Given the description of an element on the screen output the (x, y) to click on. 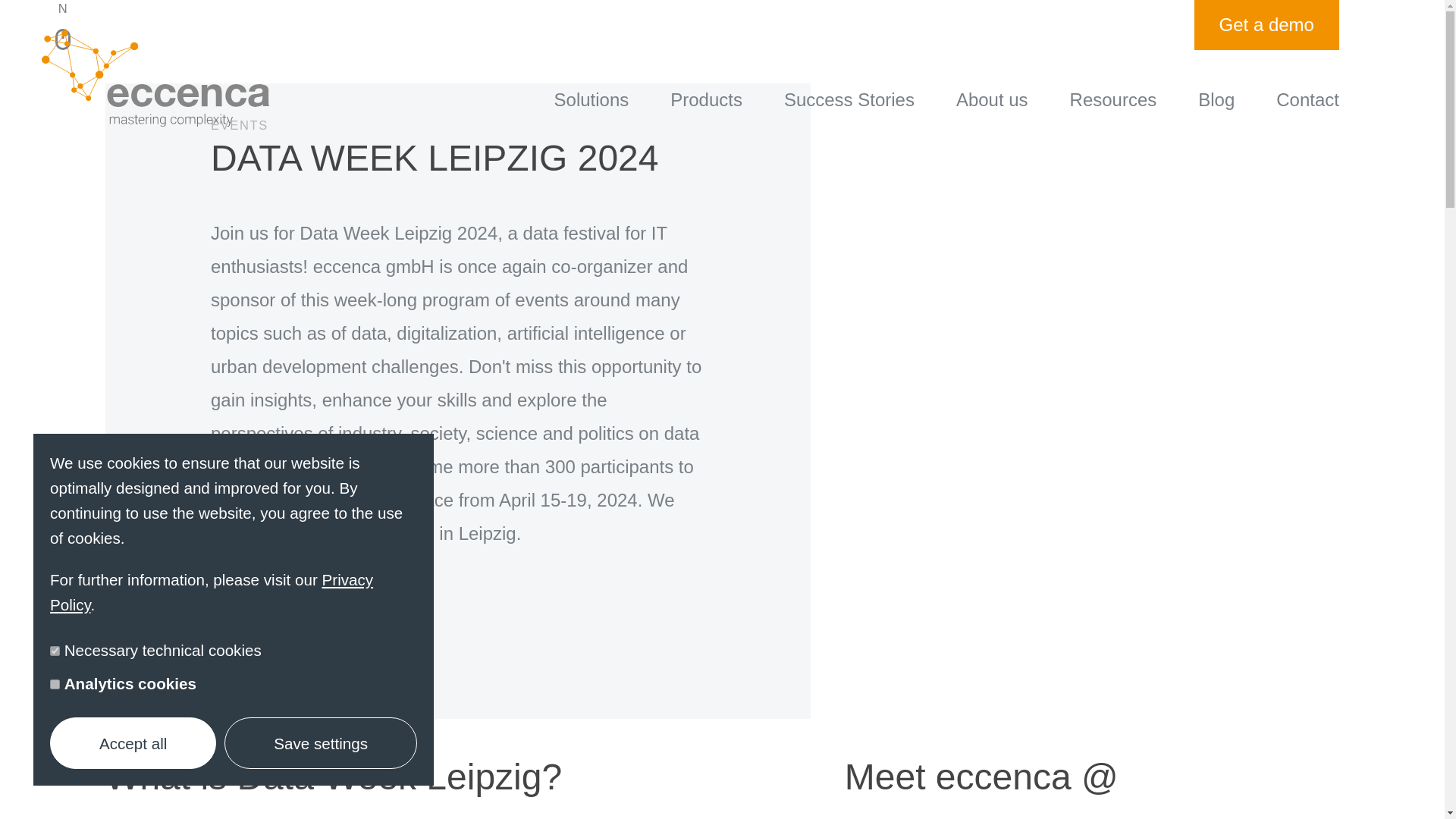
Blog (1216, 99)
1 (54, 684)
EVENTS (457, 150)
1 (54, 651)
Contact (1307, 99)
Solutions (591, 99)
Get a demo (1266, 24)
Products (705, 99)
About us (991, 99)
Resources (1113, 99)
Success Stories (849, 99)
